Given the description of an element on the screen output the (x, y) to click on. 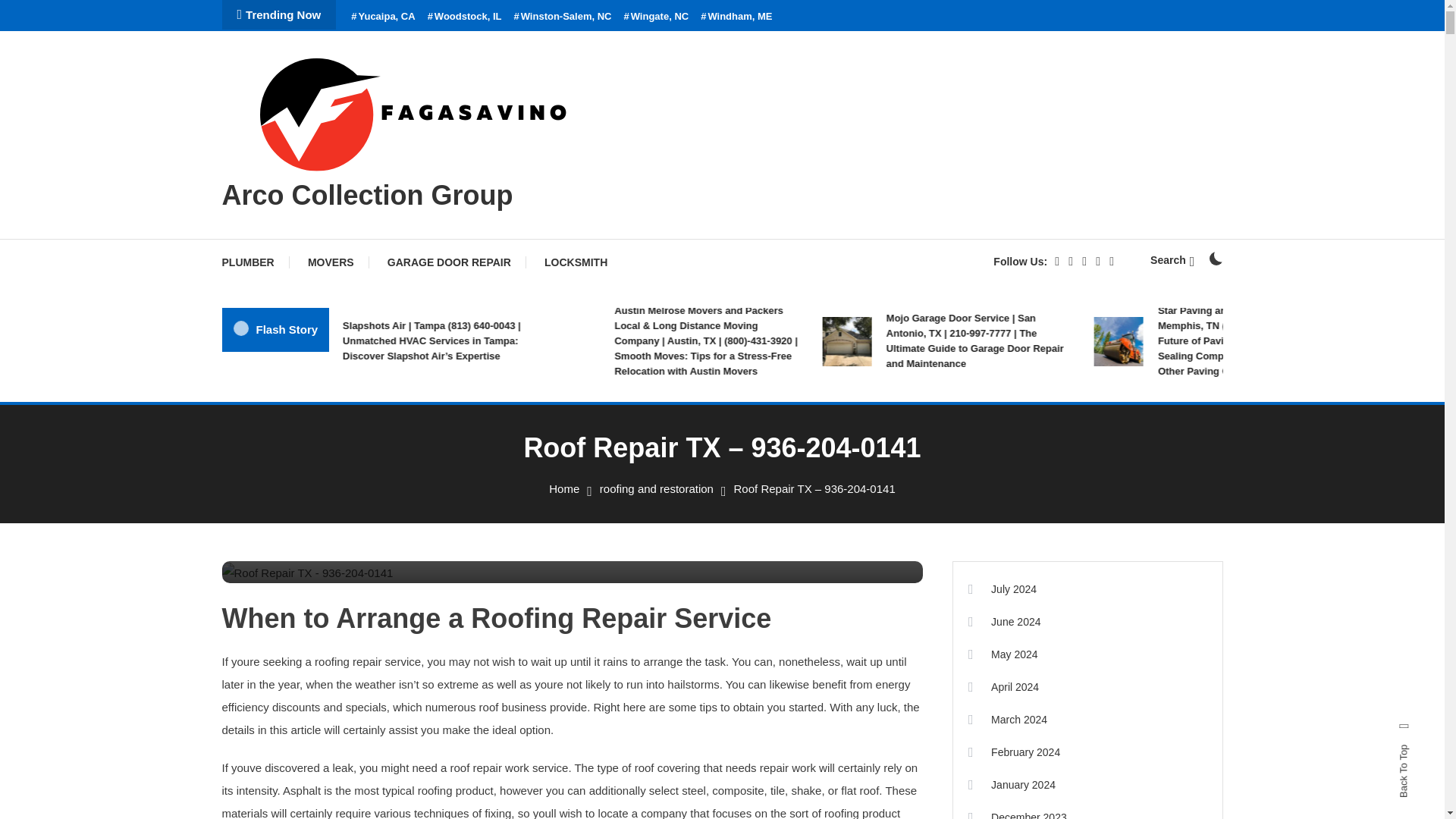
Search (1171, 259)
Woodstock, IL (465, 16)
on (1215, 258)
MOVERS (330, 262)
Arco Collection Group (366, 194)
PLUMBER (254, 262)
Home (563, 488)
Windham, ME (735, 16)
LOCKSMITH (576, 262)
GARAGE DOOR REPAIR (448, 262)
Wingate, NC (655, 16)
Winston-Salem, NC (562, 16)
Yucaipa, CA (382, 16)
Search (768, 434)
